Given the description of an element on the screen output the (x, y) to click on. 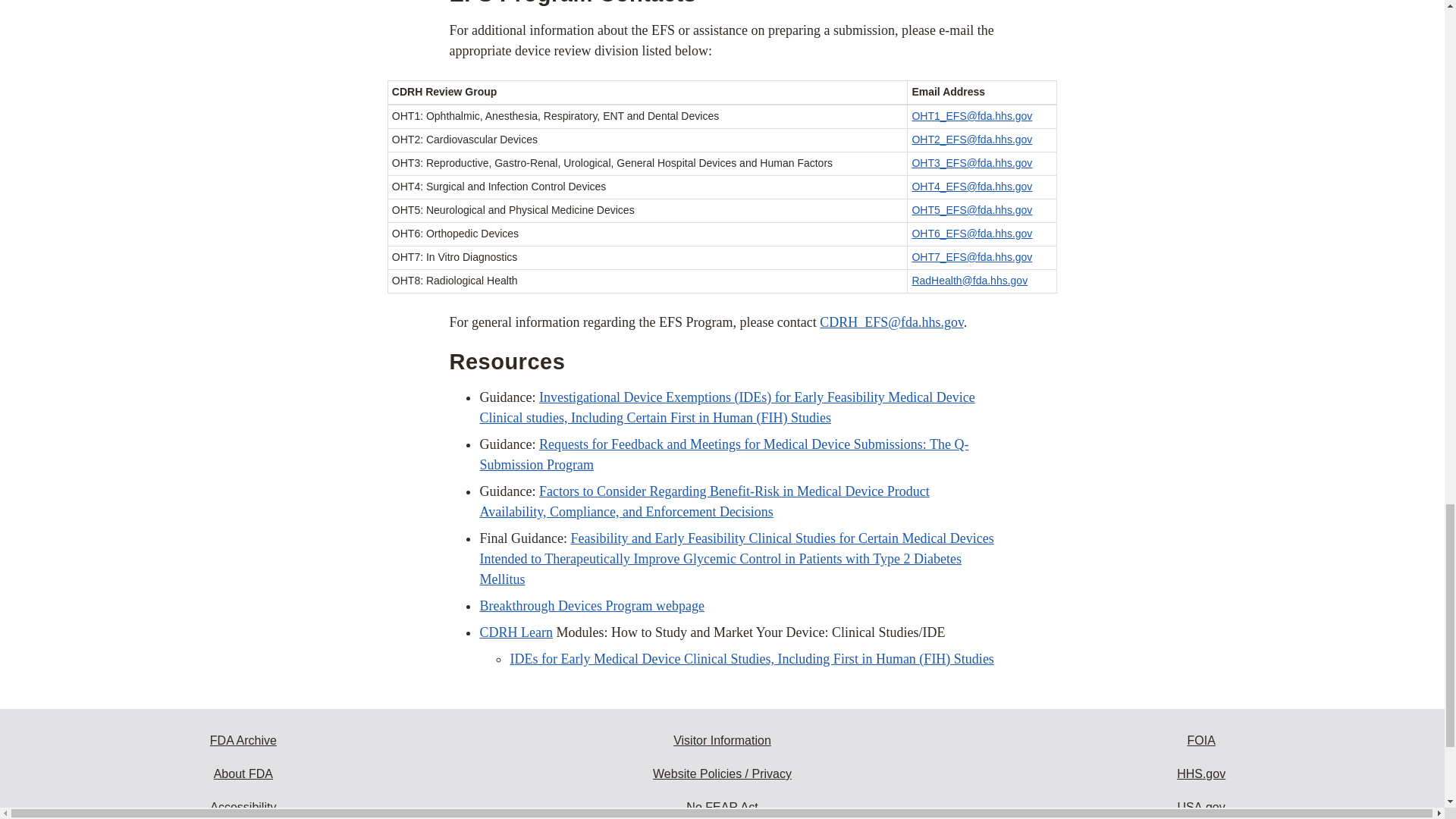
Freedom of Information Act (1200, 740)
Health and Human Services (1200, 774)
CDRH Learn (515, 631)
